Given the description of an element on the screen output the (x, y) to click on. 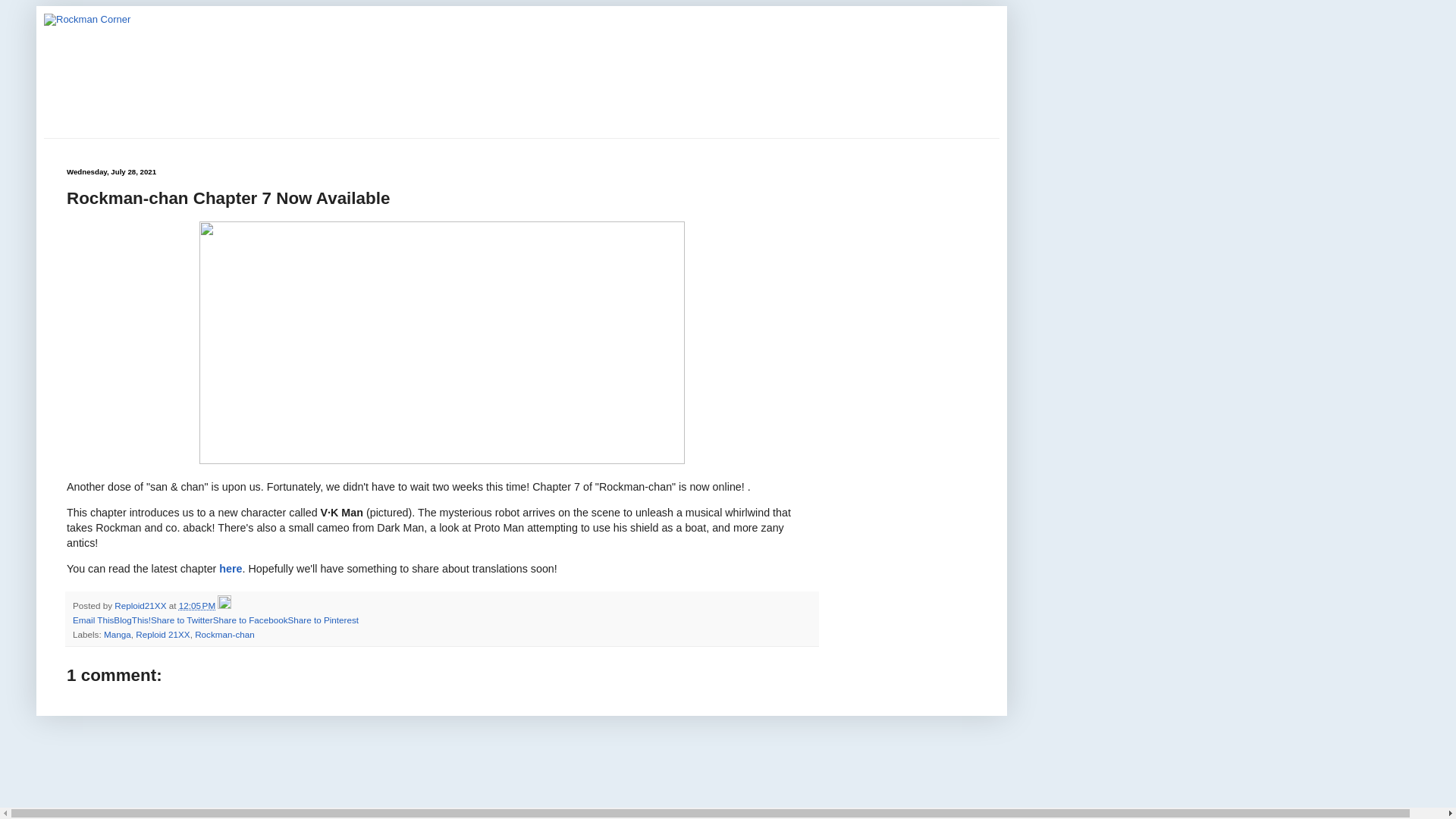
BlogThis! (132, 619)
Share to Pinterest (322, 619)
Manga (117, 634)
here (230, 568)
Edit Post (223, 605)
Email This (92, 619)
author profile (141, 605)
permanent link (197, 605)
Share to Twitter (181, 619)
Reploid 21XX (162, 634)
